Given the description of an element on the screen output the (x, y) to click on. 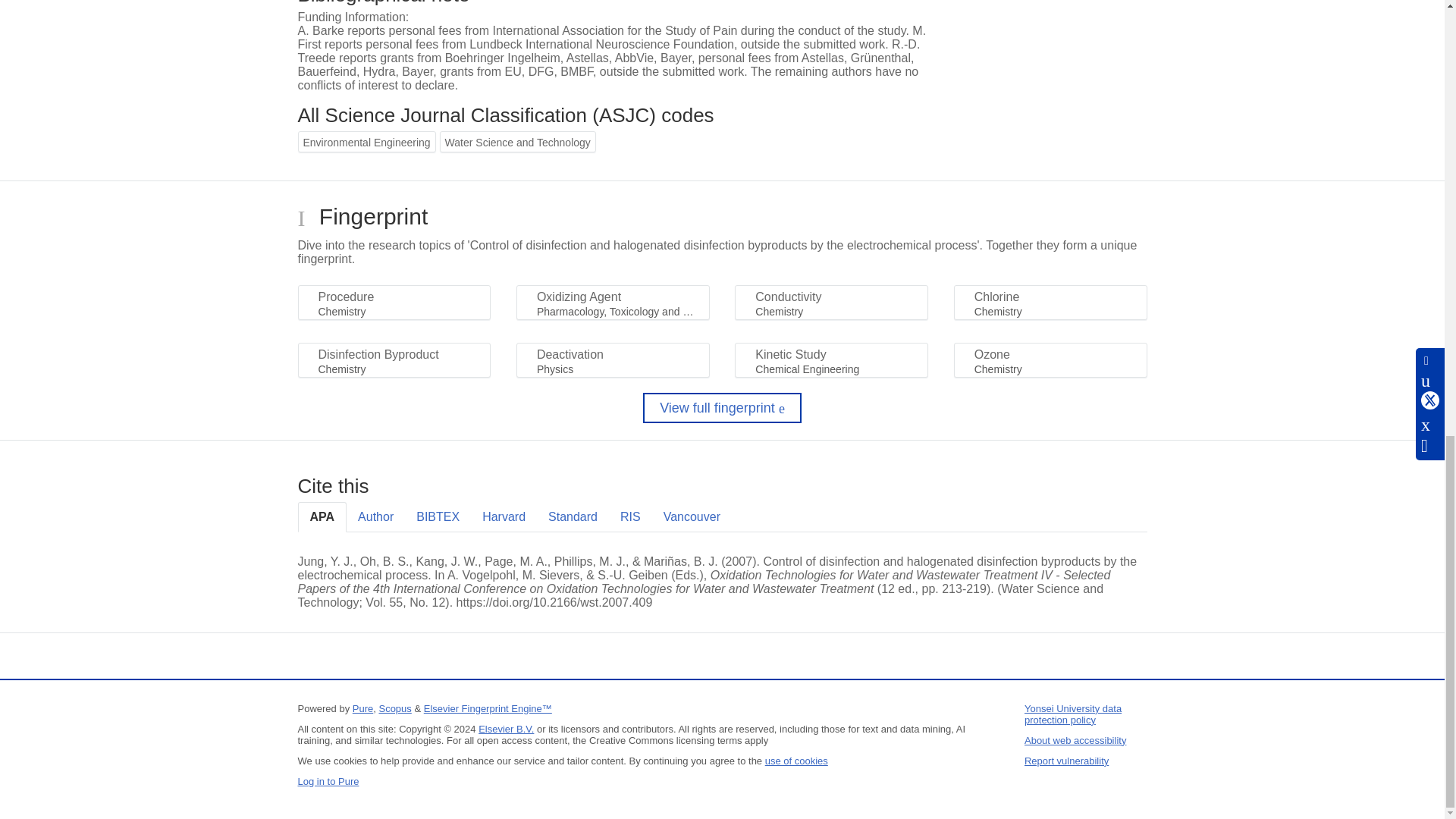
Log in to Pure (327, 781)
Pure (362, 708)
use of cookies (796, 760)
Scopus (394, 708)
Elsevier B.V. (506, 728)
View full fingerprint (722, 408)
Yonsei University data protection policy (1073, 713)
